Given the description of an element on the screen output the (x, y) to click on. 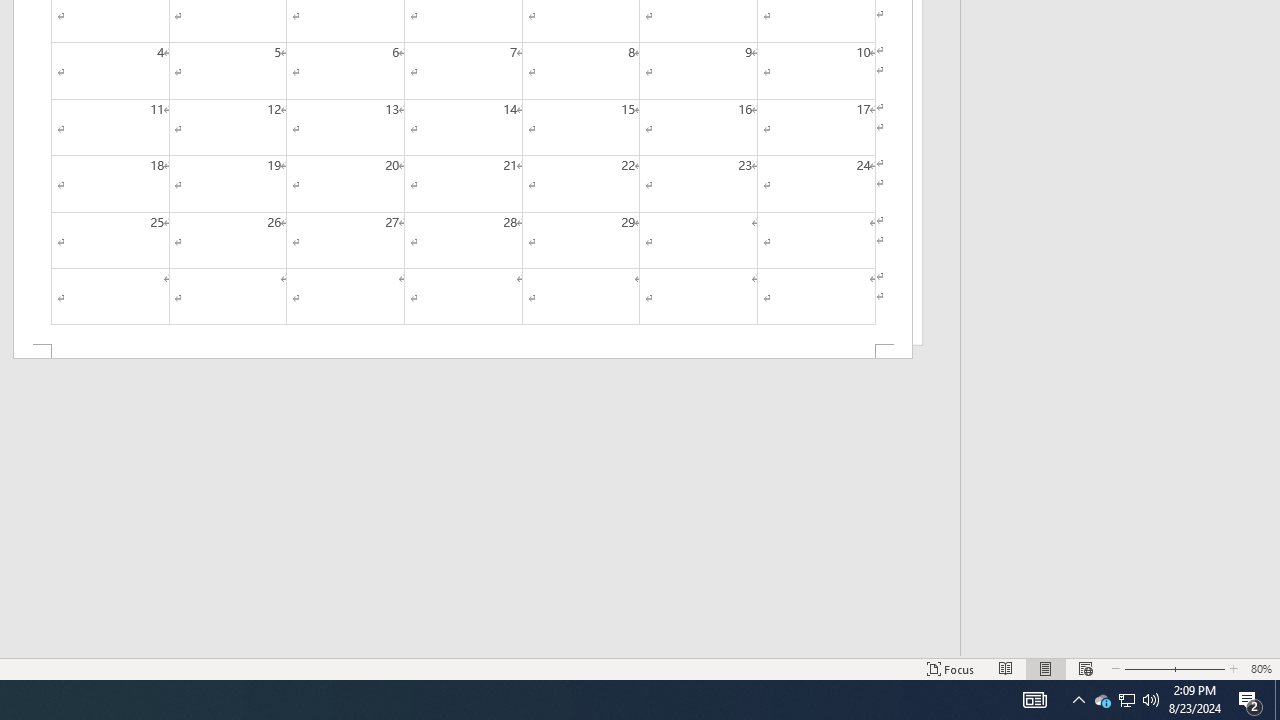
Footer -Section 2- (462, 351)
